Given the description of an element on the screen output the (x, y) to click on. 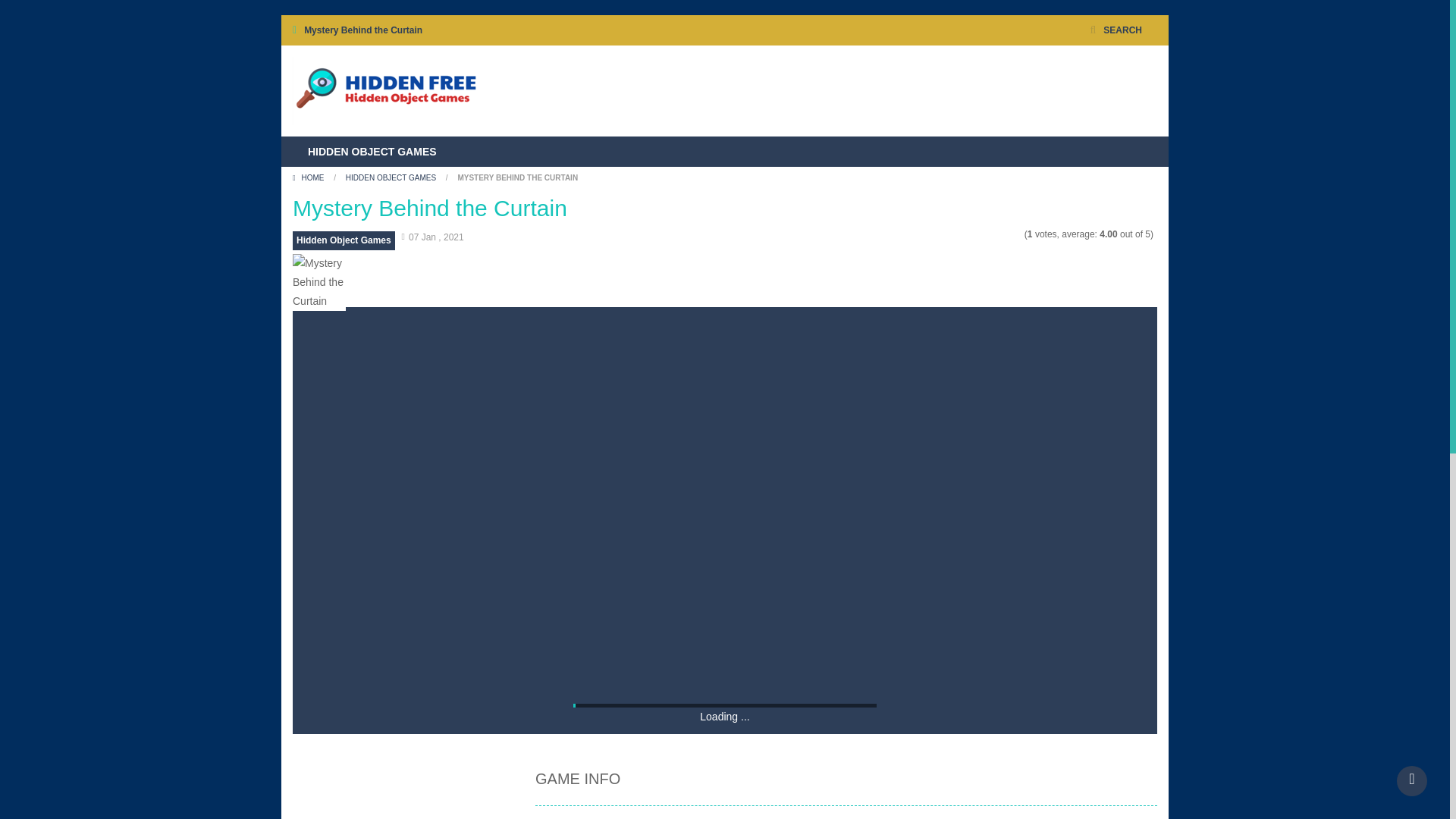
1 Star (977, 234)
4 Stars (1007, 234)
3 Stars (997, 234)
2 Stars (987, 234)
HOME (309, 177)
Back to Top (1411, 780)
Hidden Object Games (343, 240)
Hidden Object Games (385, 90)
Home (309, 177)
5 Stars (1016, 234)
HIDDEN OBJECT GAMES (371, 151)
Hidden Object Games (385, 90)
HIDDEN OBJECT GAMES (390, 177)
SEARCH (1115, 30)
